Given the description of an element on the screen output the (x, y) to click on. 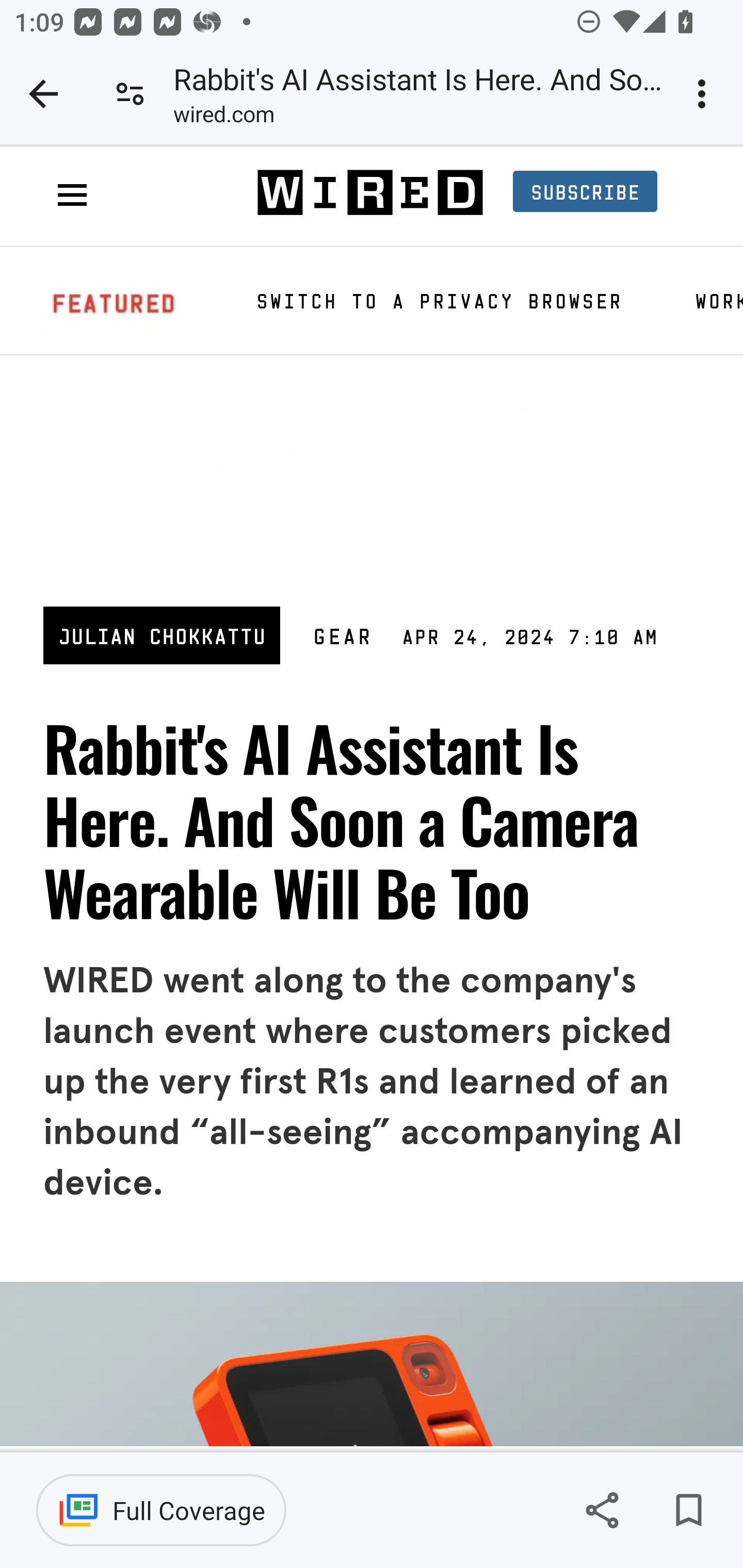
Close tab (43, 93)
Customize and control Google Chrome (705, 93)
Connection is secure (129, 93)
wired.com (223, 117)
OPEN NAVIGATION MENU Menu (71, 195)
WIRED (369, 194)
SWITCH TO A PRIVACY BROWSER (438, 299)
JULIAN CHOKKATTU (162, 634)
GEAR (342, 635)
Full Coverage (161, 1509)
Share (601, 1510)
Save for later (688, 1510)
